Given the description of an element on the screen output the (x, y) to click on. 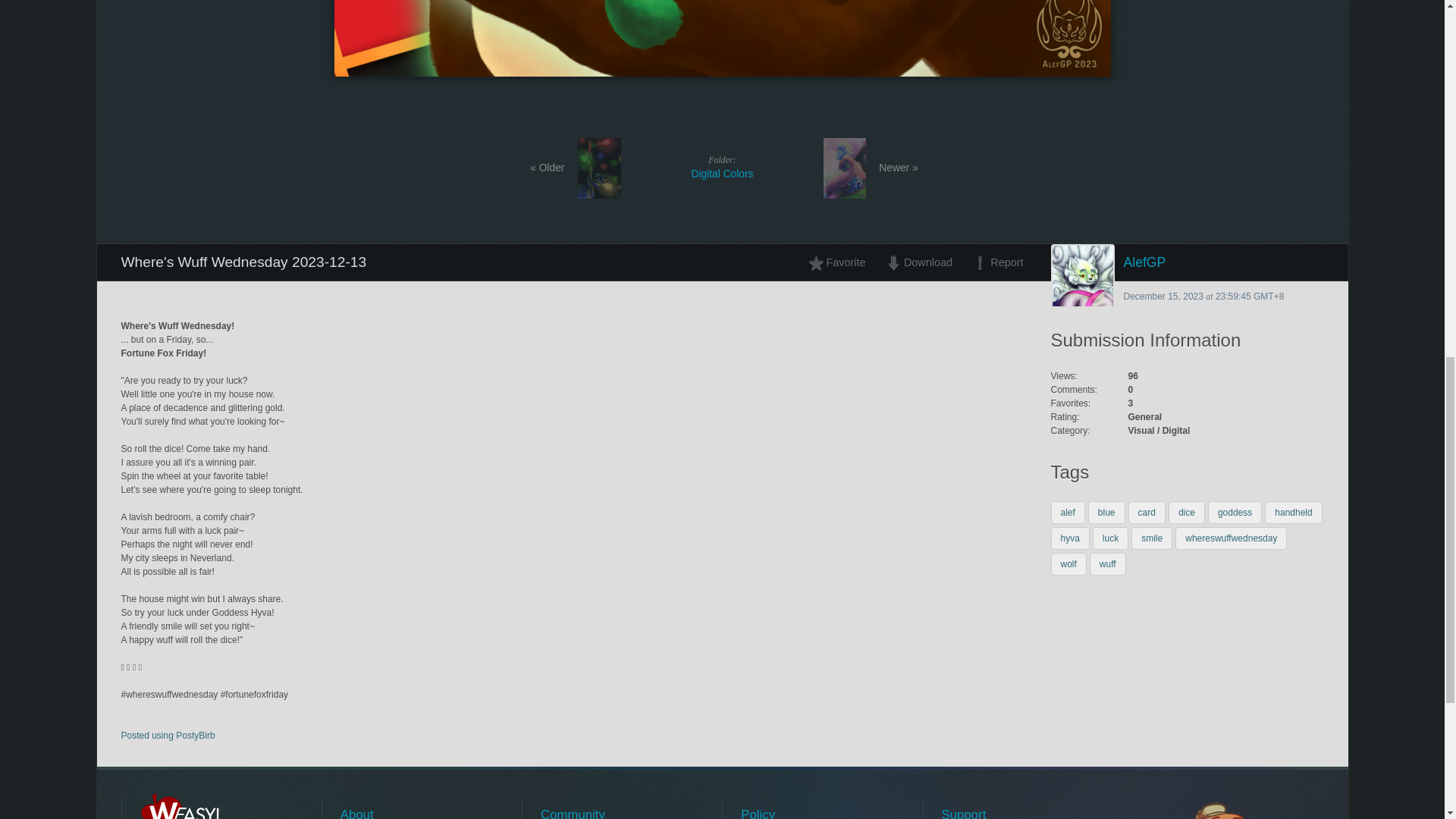
card (1147, 512)
wolf (1068, 563)
goddess (1235, 512)
Download (918, 262)
smile (1151, 538)
whereswuffwednesday (1230, 538)
handheld (1293, 512)
wuff (1107, 563)
luck (1110, 538)
